Given the description of an element on the screen output the (x, y) to click on. 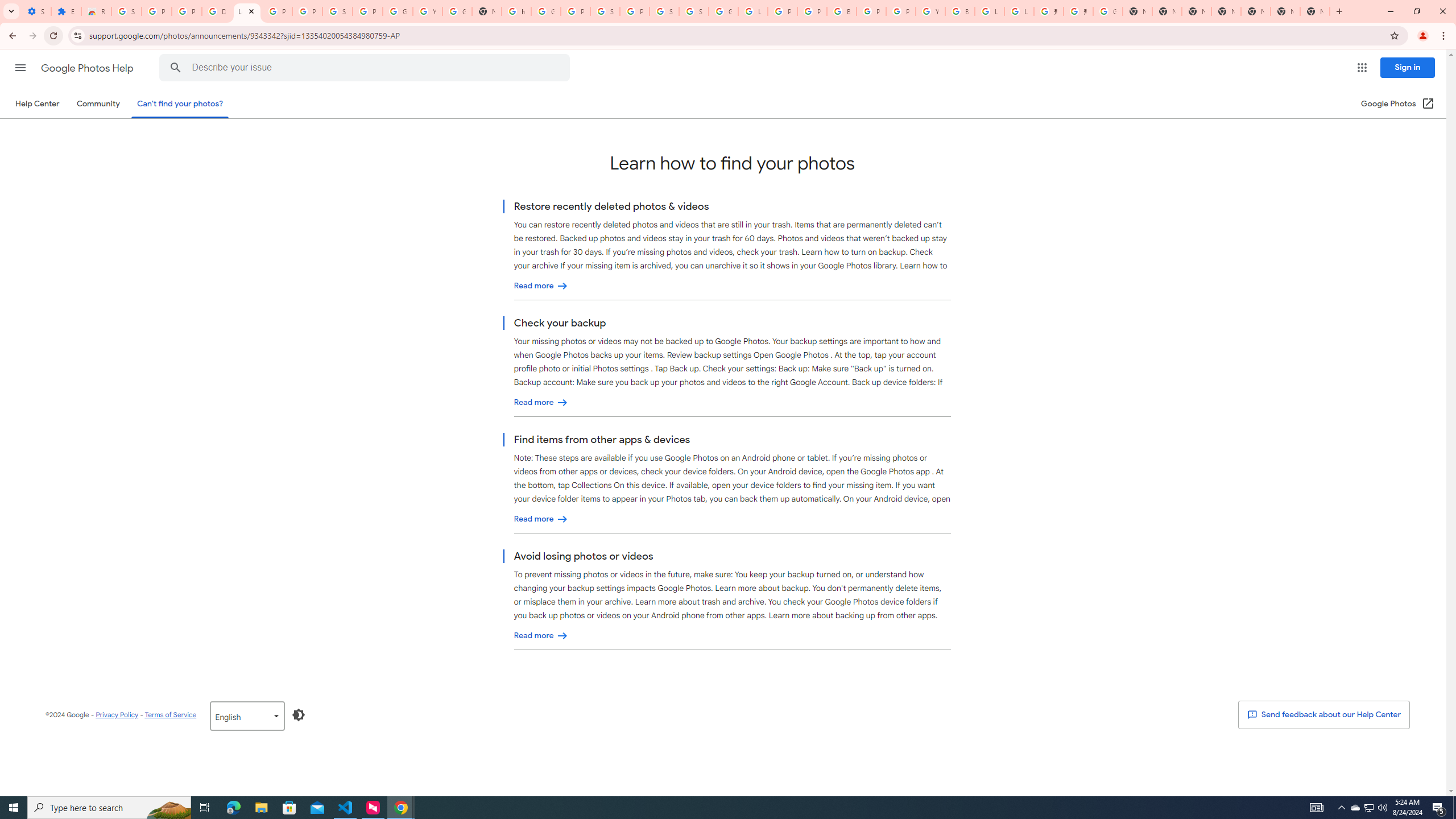
 Send feedback about our Help Center (1323, 714)
Enable Dark Mode (299, 714)
New Tab (1314, 11)
Can't find your photos? (180, 103)
Privacy Help Center - Policies Help (811, 11)
